Given the description of an element on the screen output the (x, y) to click on. 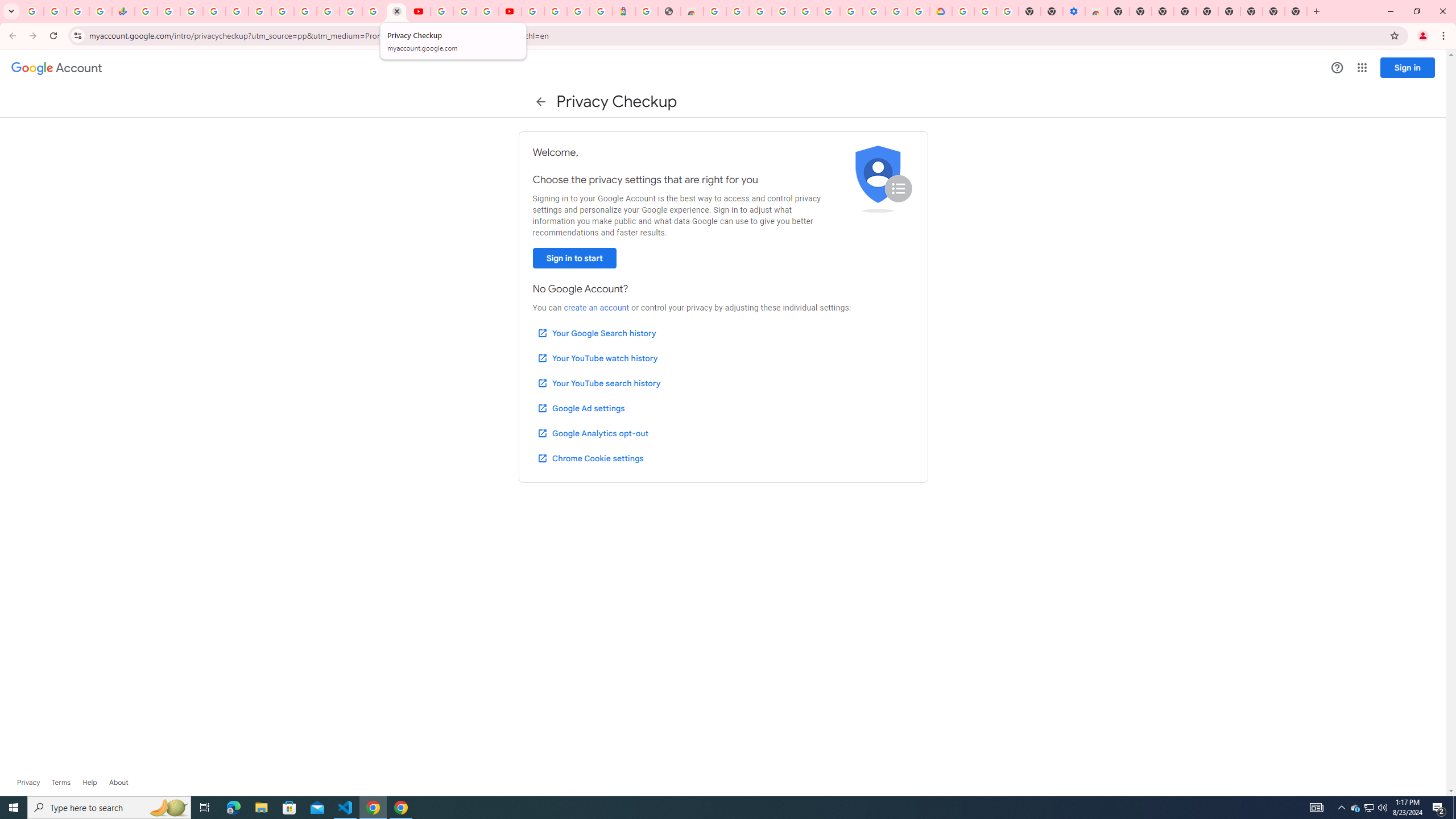
Your YouTube search history (598, 383)
